Given the description of an element on the screen output the (x, y) to click on. 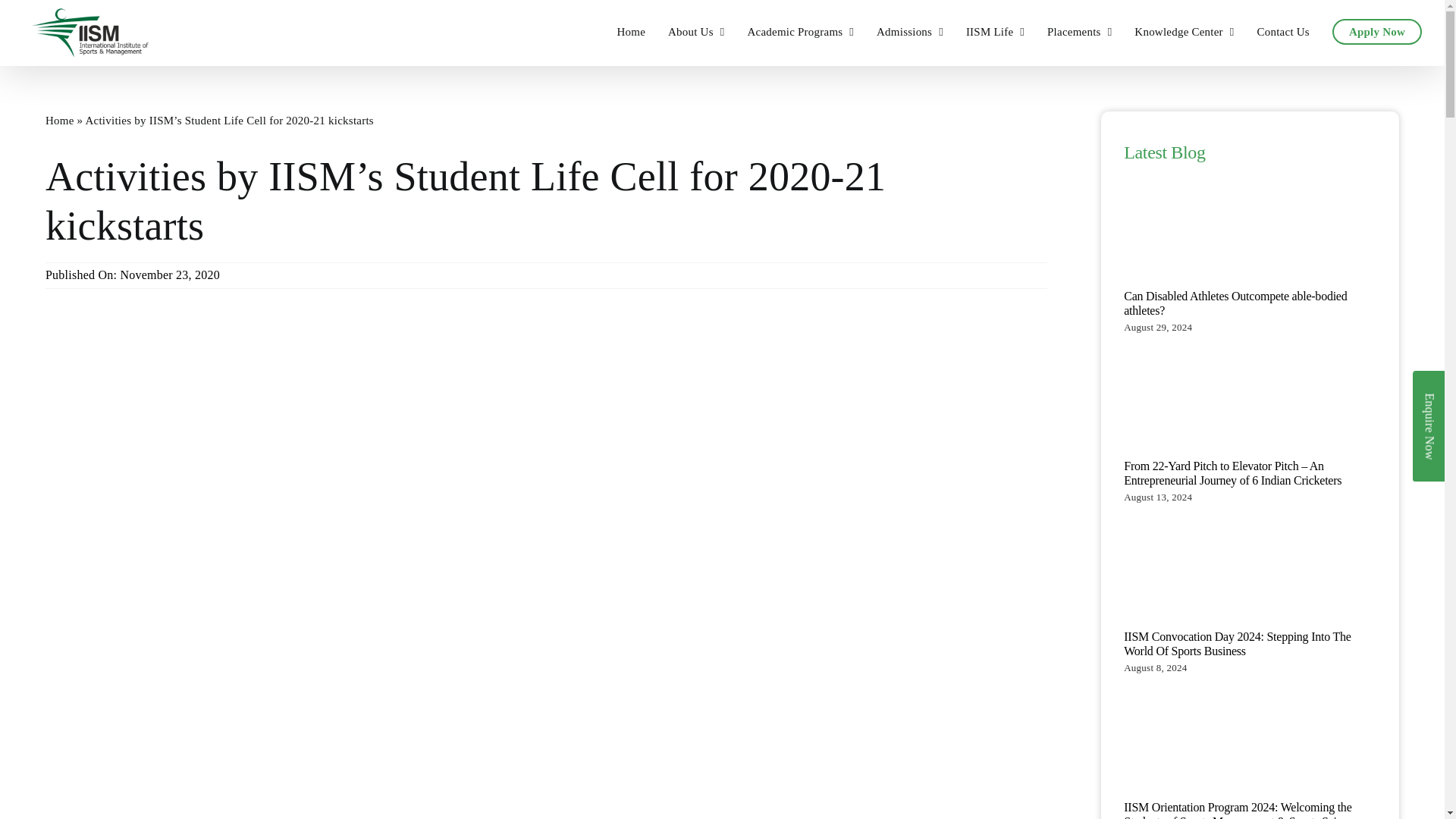
Academic Programs (799, 31)
Admissions (909, 31)
